Given the description of an element on the screen output the (x, y) to click on. 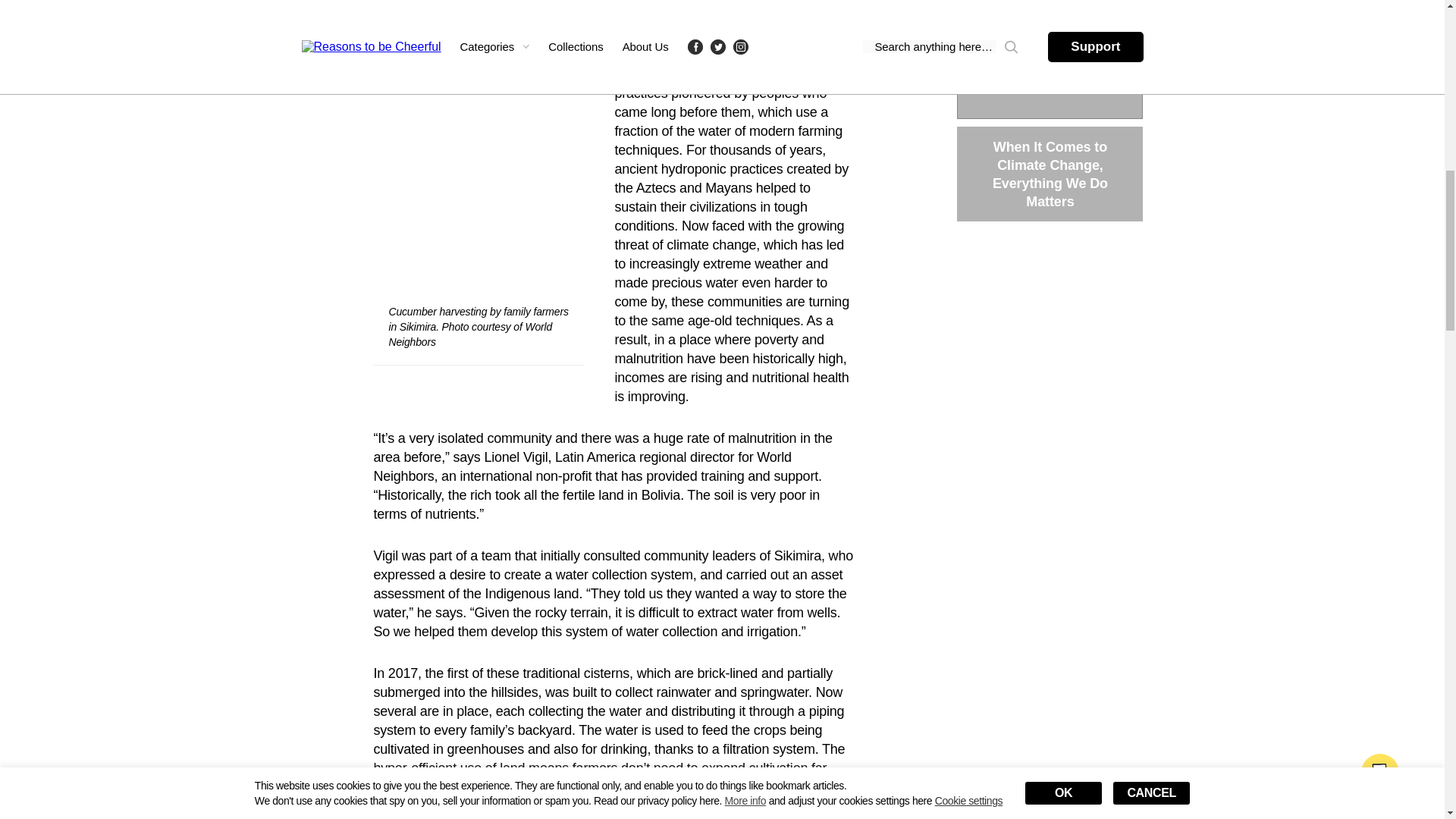
The Maker Space Where Members Are More Than Their Pasts (1049, 71)
When It Comes to Climate Change, Everything We Do Matters (1049, 173)
